Given the description of an element on the screen output the (x, y) to click on. 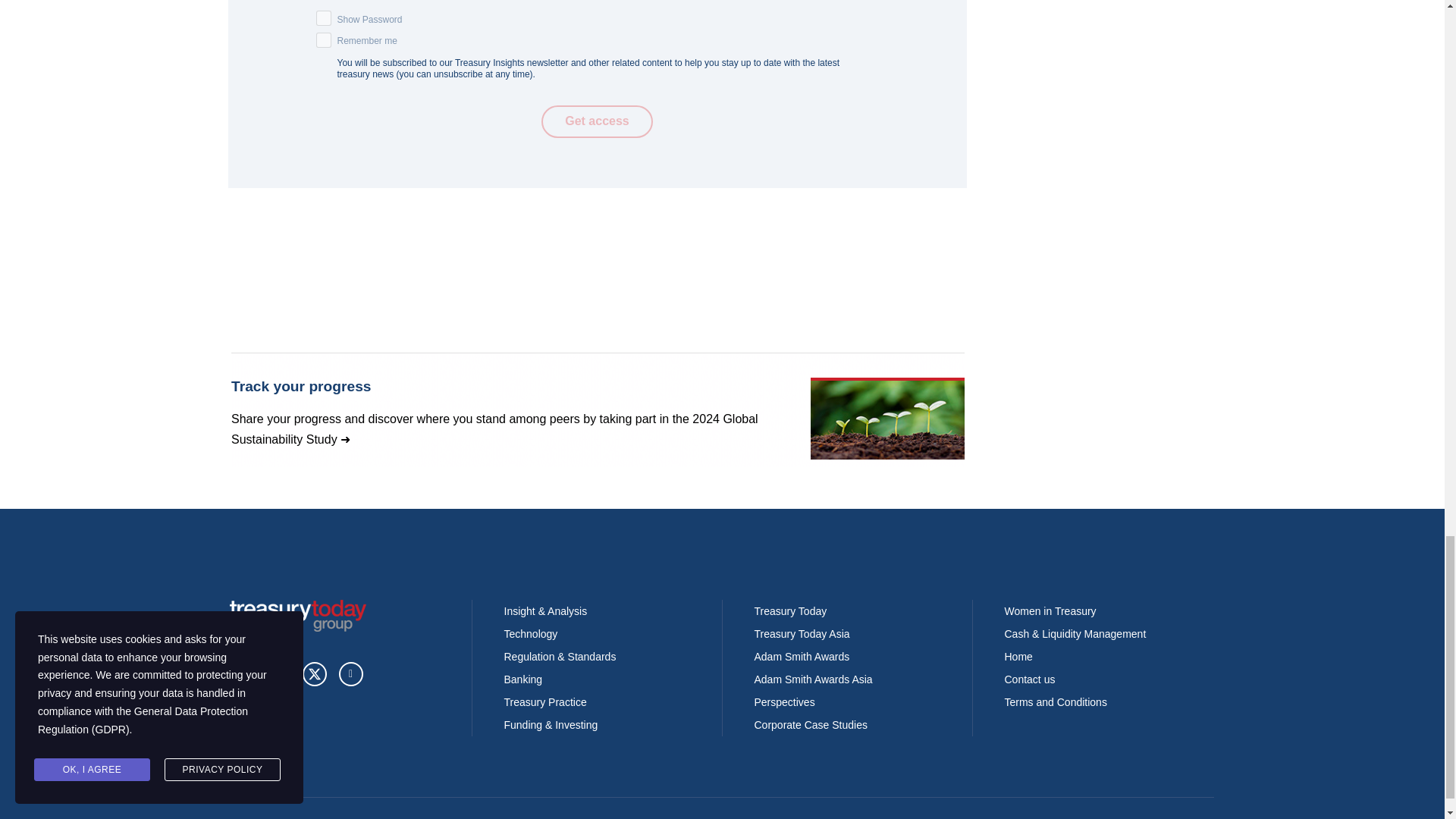
on (322, 17)
3rd party ad content (596, 409)
on (322, 39)
